Given the description of an element on the screen output the (x, y) to click on. 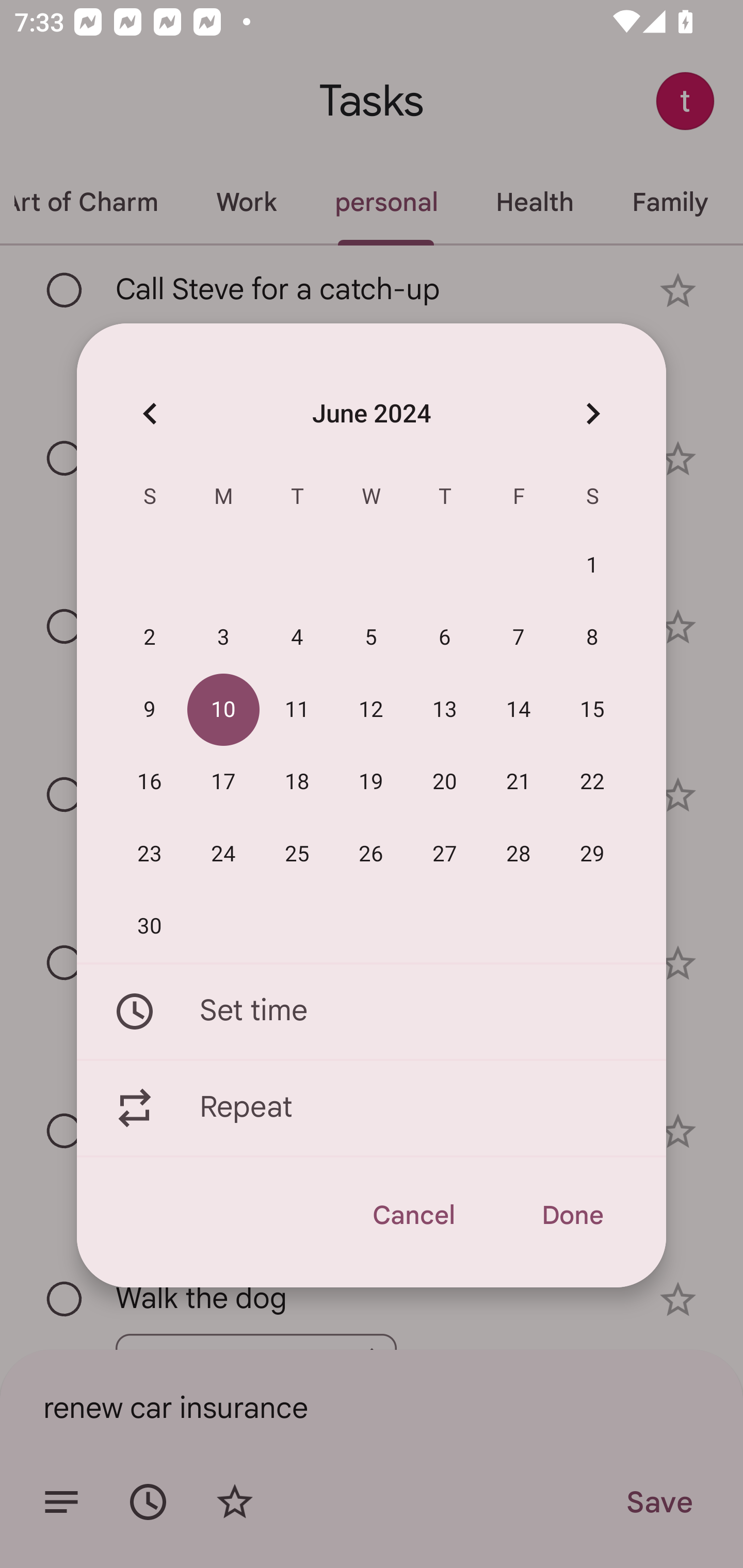
Previous month (149, 413)
Next month (592, 413)
1 01 June 2024 (592, 565)
2 02 June 2024 (149, 638)
3 03 June 2024 (223, 638)
4 04 June 2024 (297, 638)
5 05 June 2024 (370, 638)
6 06 June 2024 (444, 638)
7 07 June 2024 (518, 638)
8 08 June 2024 (592, 638)
9 09 June 2024 (149, 710)
10 10 June 2024 (223, 710)
11 11 June 2024 (297, 710)
12 12 June 2024 (370, 710)
13 13 June 2024 (444, 710)
14 14 June 2024 (518, 710)
15 15 June 2024 (592, 710)
16 16 June 2024 (149, 782)
17 17 June 2024 (223, 782)
18 18 June 2024 (297, 782)
19 19 June 2024 (370, 782)
20 20 June 2024 (444, 782)
21 21 June 2024 (518, 782)
22 22 June 2024 (592, 782)
23 23 June 2024 (149, 854)
24 24 June 2024 (223, 854)
25 25 June 2024 (297, 854)
26 26 June 2024 (370, 854)
27 27 June 2024 (444, 854)
28 28 June 2024 (518, 854)
29 29 June 2024 (592, 854)
30 30 June 2024 (149, 926)
Set time (371, 1011)
Repeat (371, 1108)
Cancel (412, 1215)
Done (571, 1215)
